Given the description of an element on the screen output the (x, y) to click on. 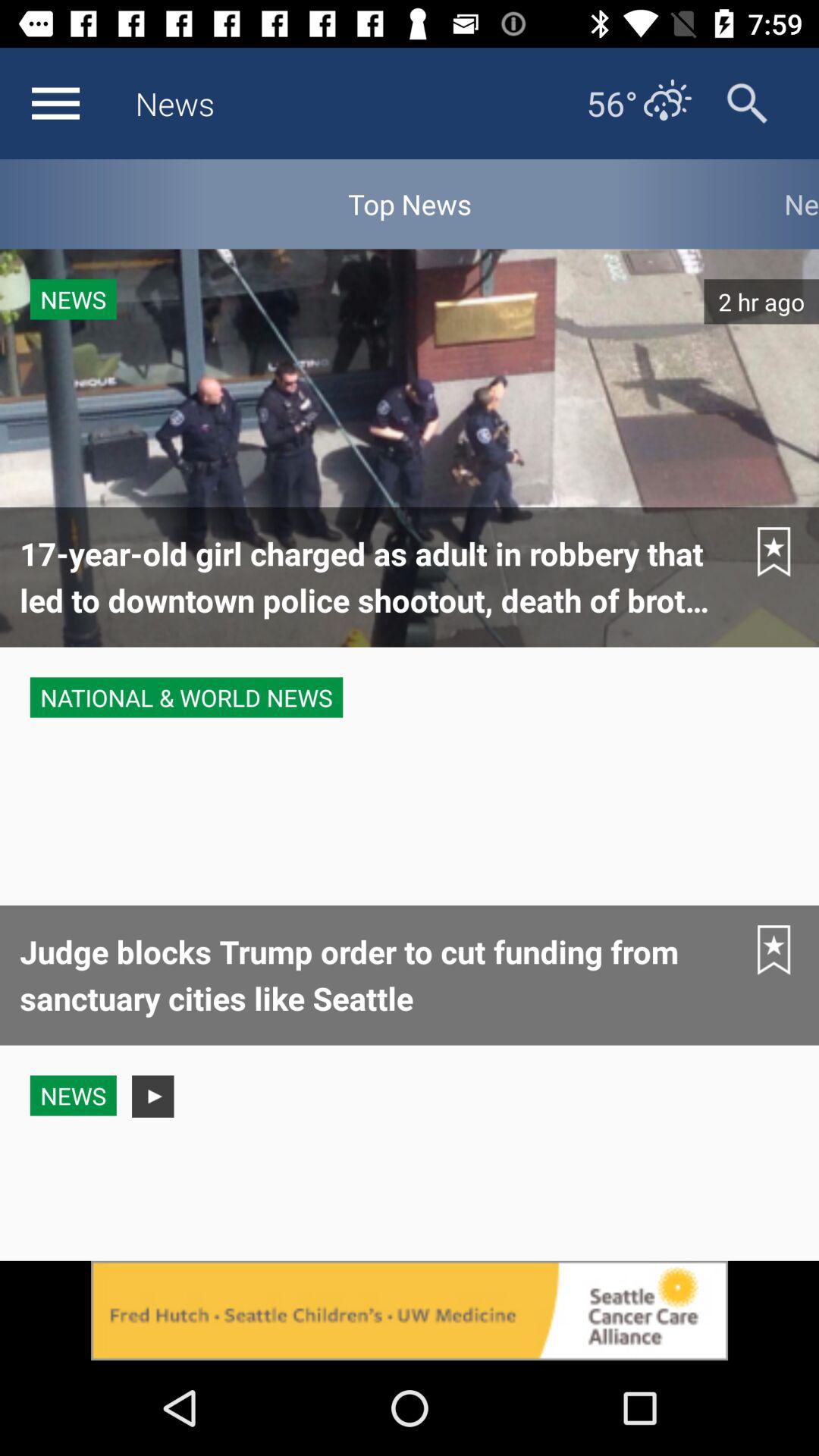
advertisement (409, 1310)
